Given the description of an element on the screen output the (x, y) to click on. 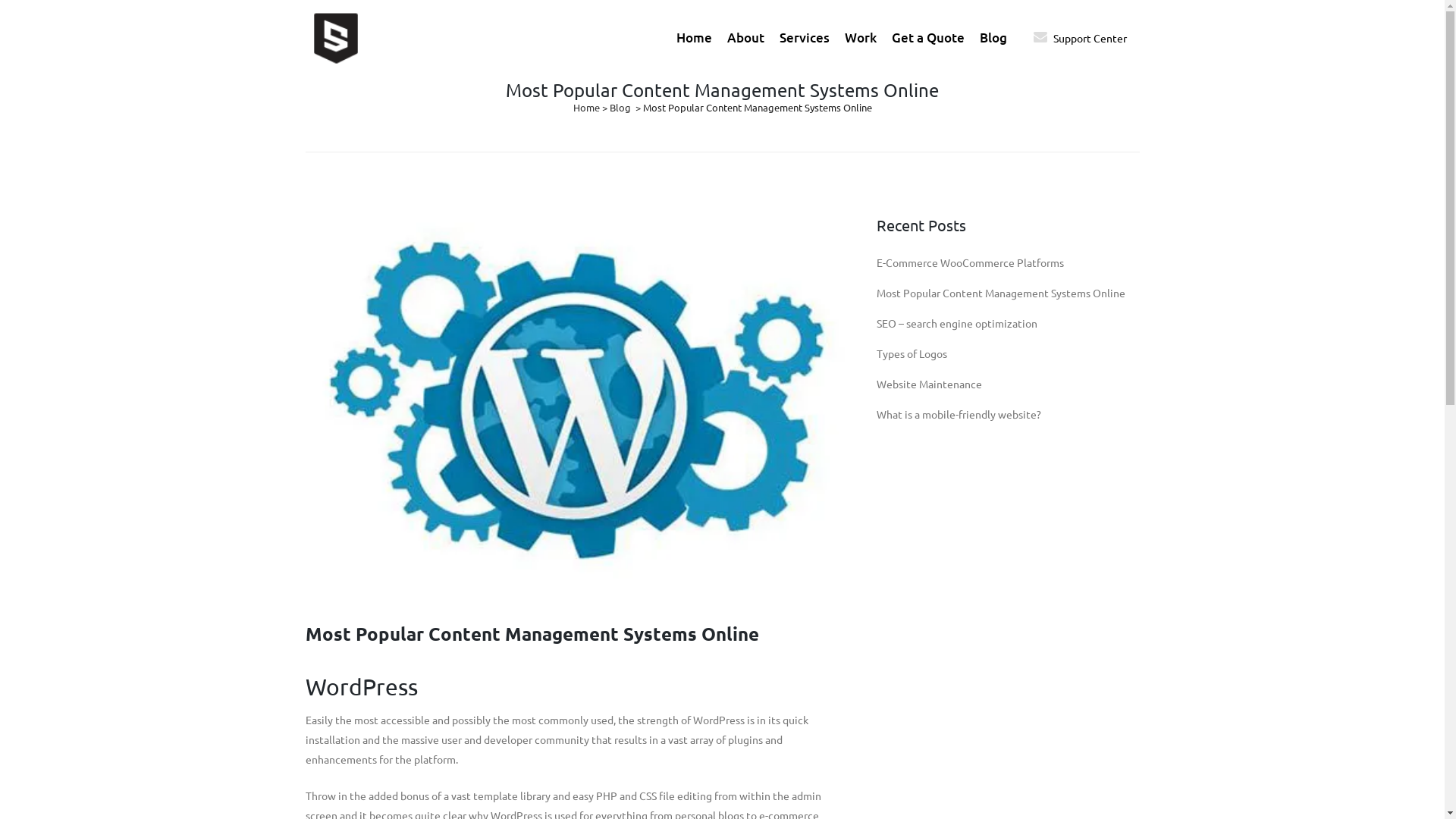
Services Element type: text (804, 37)
Get a Quote Element type: text (928, 37)
Blog Element type: text (619, 106)
Most Popular Content Management Systems Online Element type: text (1000, 292)
Home Element type: text (586, 106)
Get A Quote Element type: text (1107, 771)
Work Element type: text (860, 37)
Types of Logos Element type: text (911, 353)
Home Element type: text (693, 37)
Blog Element type: text (993, 37)
About Element type: text (744, 37)
What is a mobile-friendly website? Element type: text (958, 413)
Support Center Element type: text (997, 771)
GET A QUOTE Element type: text (362, 688)
Support Center Element type: text (1089, 37)
Website Maintenance Element type: text (929, 383)
E-Commerce WooCommerce Platforms Element type: text (969, 262)
